Given the description of an element on the screen output the (x, y) to click on. 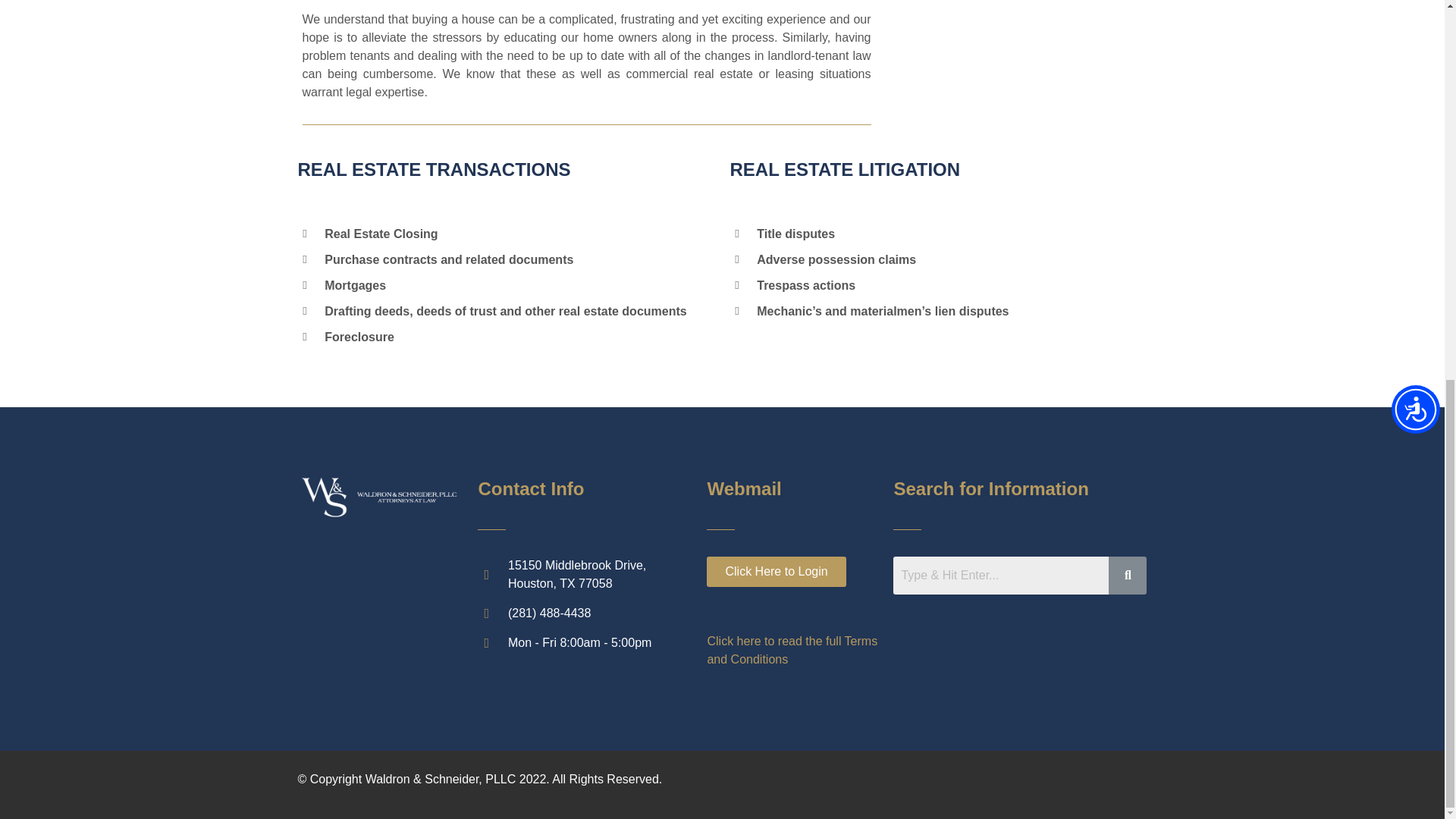
Search (1000, 575)
